Given the description of an element on the screen output the (x, y) to click on. 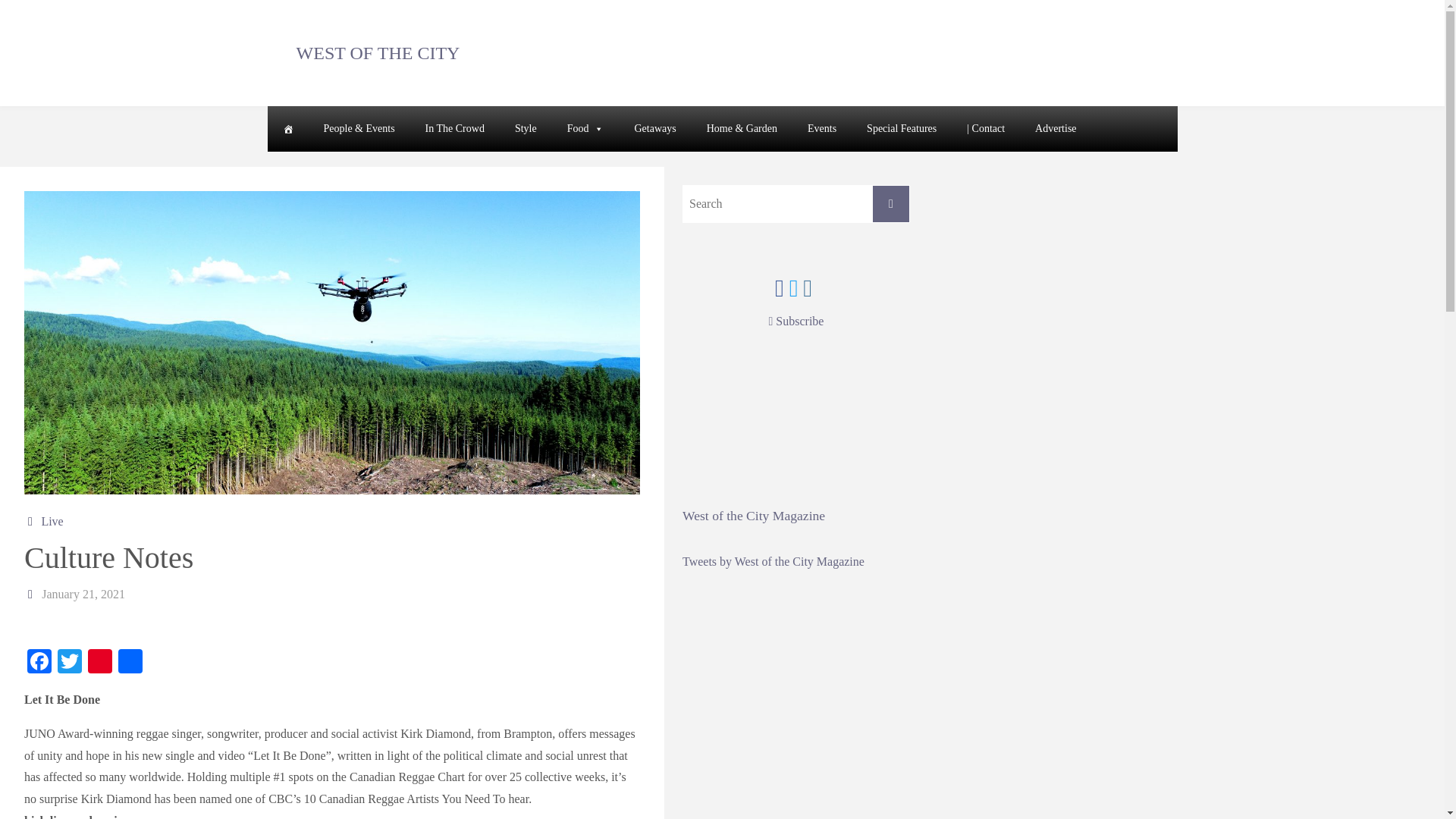
Live (51, 521)
Pinterest (99, 663)
Twitter (69, 663)
 Subscribe (796, 320)
Share (130, 663)
Facebook (39, 663)
Date (31, 594)
Twitter (69, 663)
Facebook (39, 663)
West of the City Magazine (753, 515)
WEST OF THE CITY (378, 52)
In The Crowd (454, 128)
Categories (31, 521)
Getaways (654, 128)
Style (525, 128)
